Given the description of an element on the screen output the (x, y) to click on. 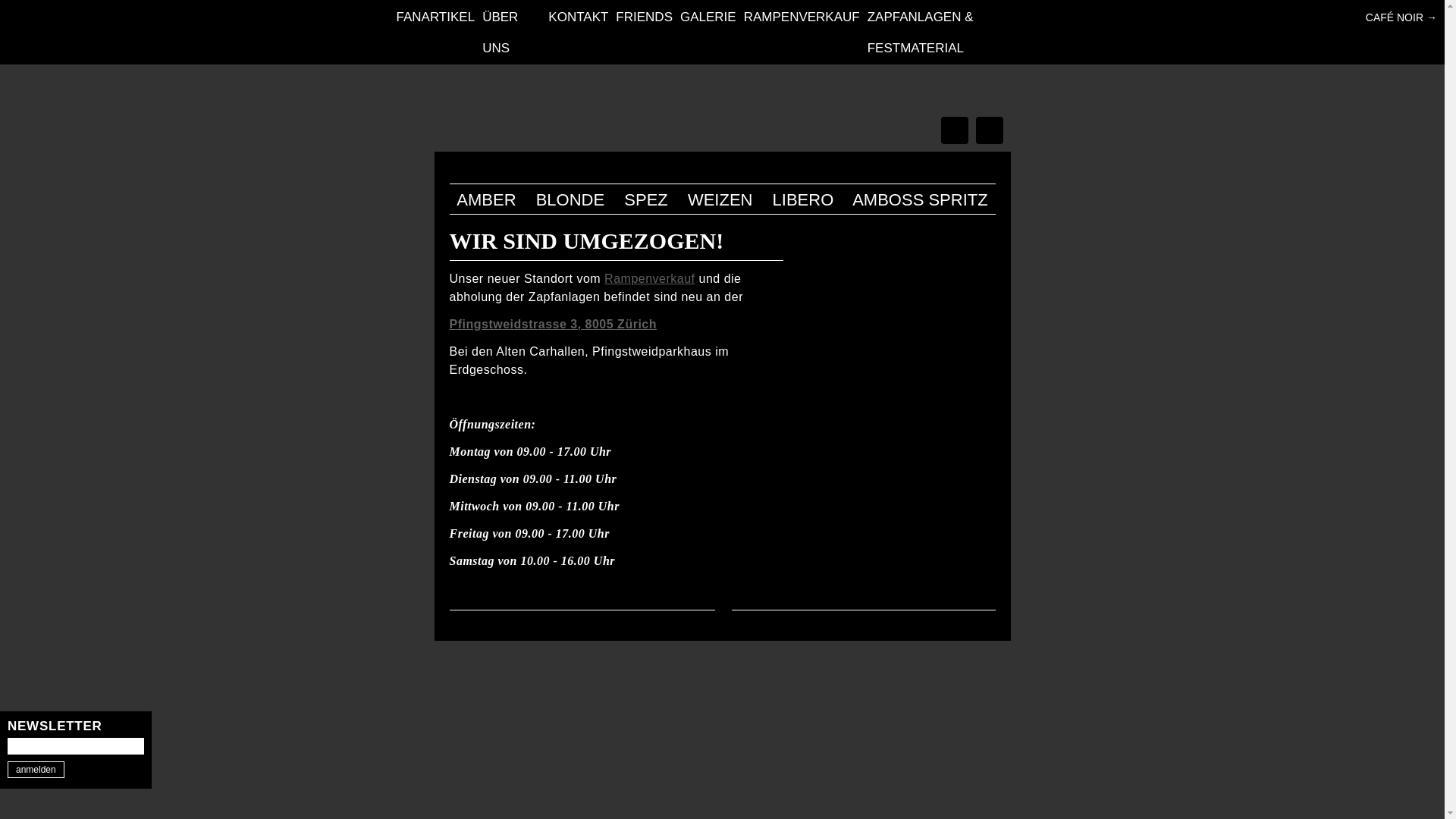
Amboss Element type: text (722, 119)
Teilen auf Facebook Element type: text (456, 586)
KONTAKT Element type: text (578, 16)
RAMPENVERKAUF Element type: text (801, 16)
anmelden Element type: text (35, 769)
AMBER Element type: text (485, 199)
FRIENDS Element type: text (643, 16)
AMBOSS SPRITZ Element type: text (919, 199)
FANARTIKEL Element type: text (434, 16)
WEIZEN Element type: text (720, 199)
Rampenverkauf Element type: text (649, 278)
Amboss auf Instagram Element type: text (953, 130)
BLONDE Element type: text (570, 199)
GALERIE Element type: text (708, 16)
ZAPFANLAGEN & FESTMATERIAL Element type: text (920, 32)
Amboss auf Facebook Element type: text (988, 130)
LIBERO Element type: text (803, 199)
SPEZ Element type: text (645, 199)
